Given the description of an element on the screen output the (x, y) to click on. 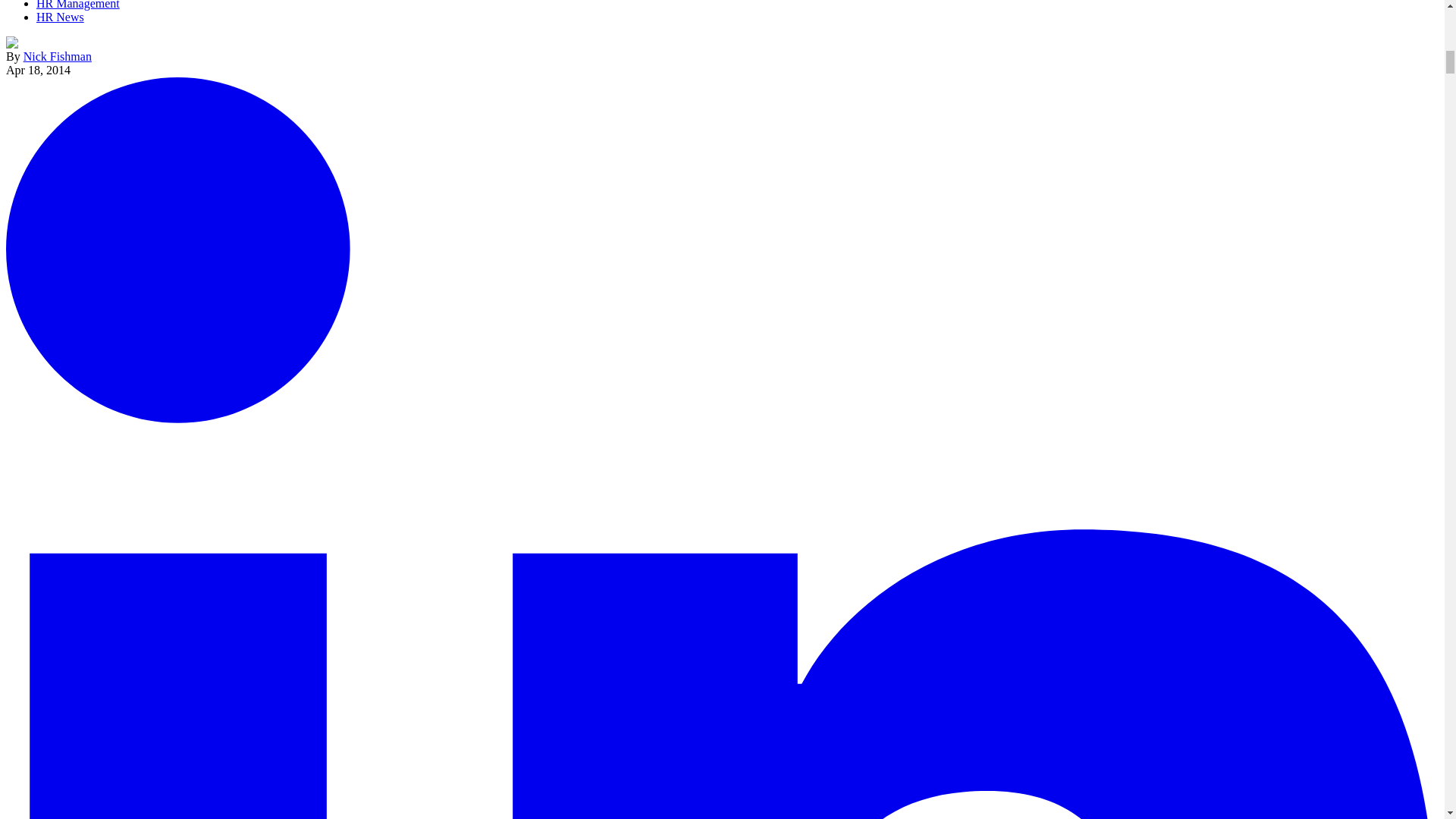
HR News (60, 16)
HR Management (77, 4)
Nick Fishman (57, 56)
